Given the description of an element on the screen output the (x, y) to click on. 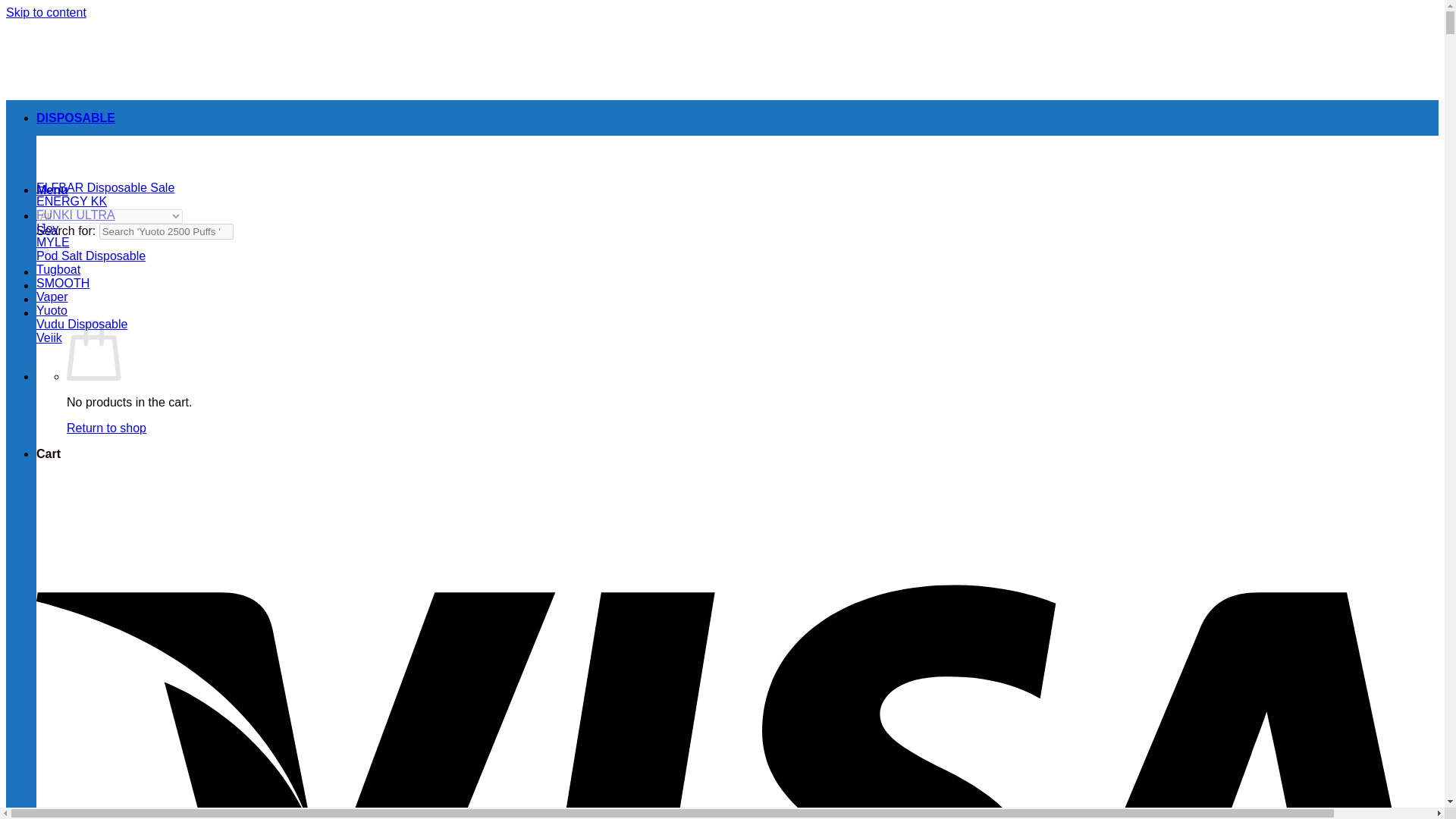
Yuoto (51, 309)
Return to shop (106, 427)
Search (42, 250)
ENERGY KK (71, 201)
Pod Salt Disposable (90, 255)
ELFBAR Disposable (105, 187)
MYLE (52, 241)
FUNKI ULTRA (75, 214)
Skip to content (45, 11)
Vaper (52, 296)
SMOOTH (62, 282)
Tugboat (58, 269)
Vudu Disposable (82, 323)
Veiik (49, 337)
DISPOSABLE (75, 117)
